Given the description of an element on the screen output the (x, y) to click on. 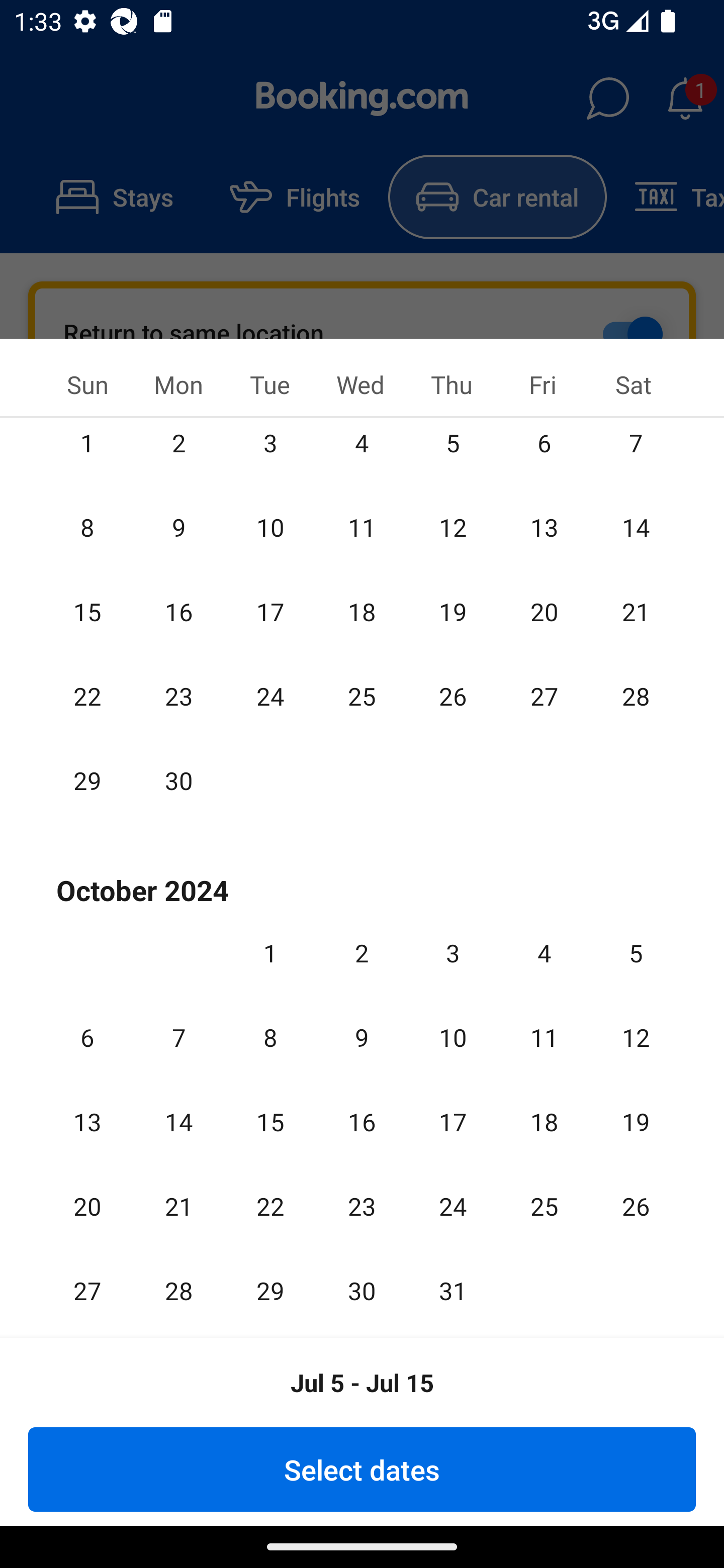
Select dates (361, 1468)
